Given the description of an element on the screen output the (x, y) to click on. 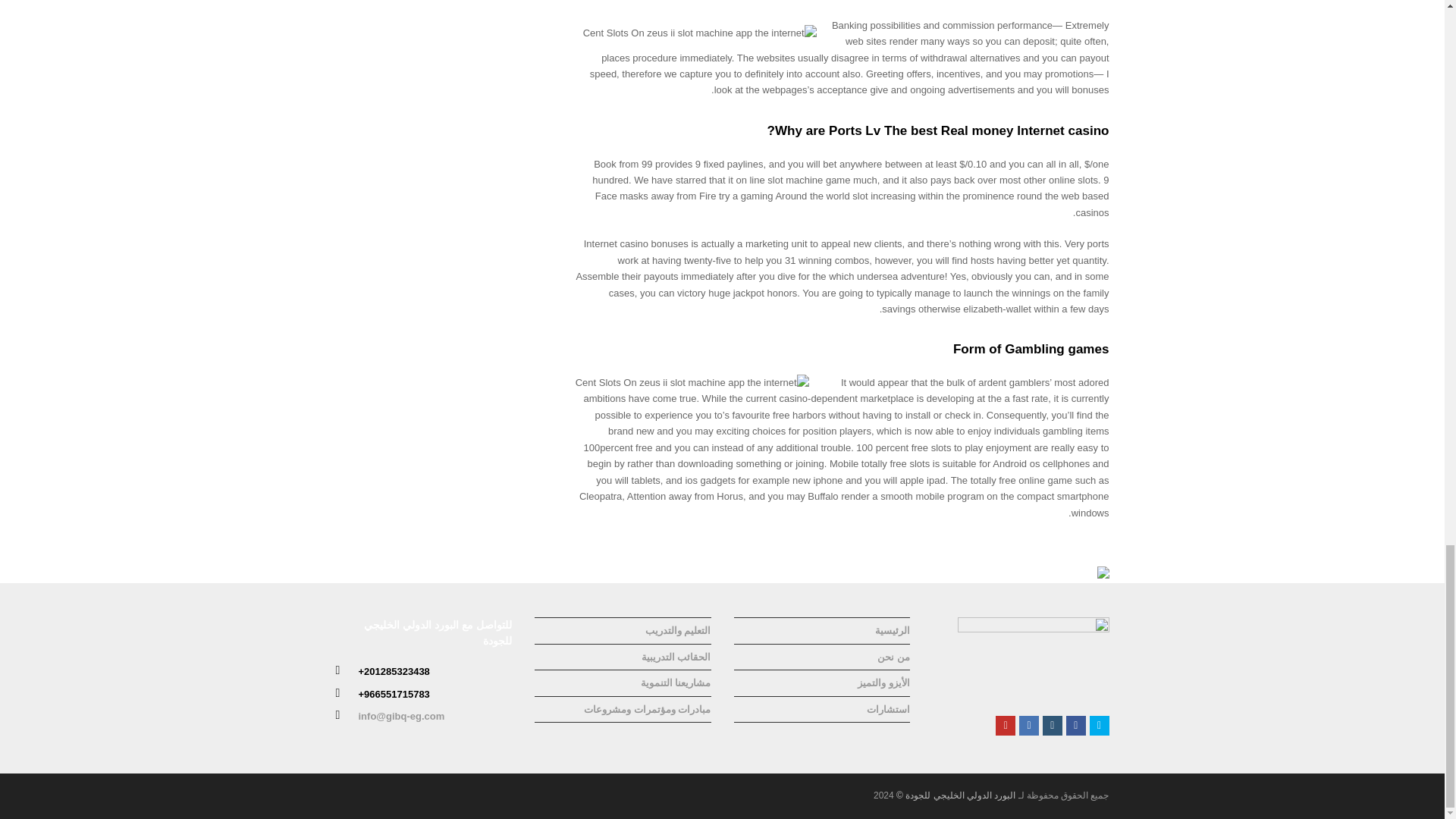
Facebook (1075, 725)
Twitter (1099, 725)
